Given the description of an element on the screen output the (x, y) to click on. 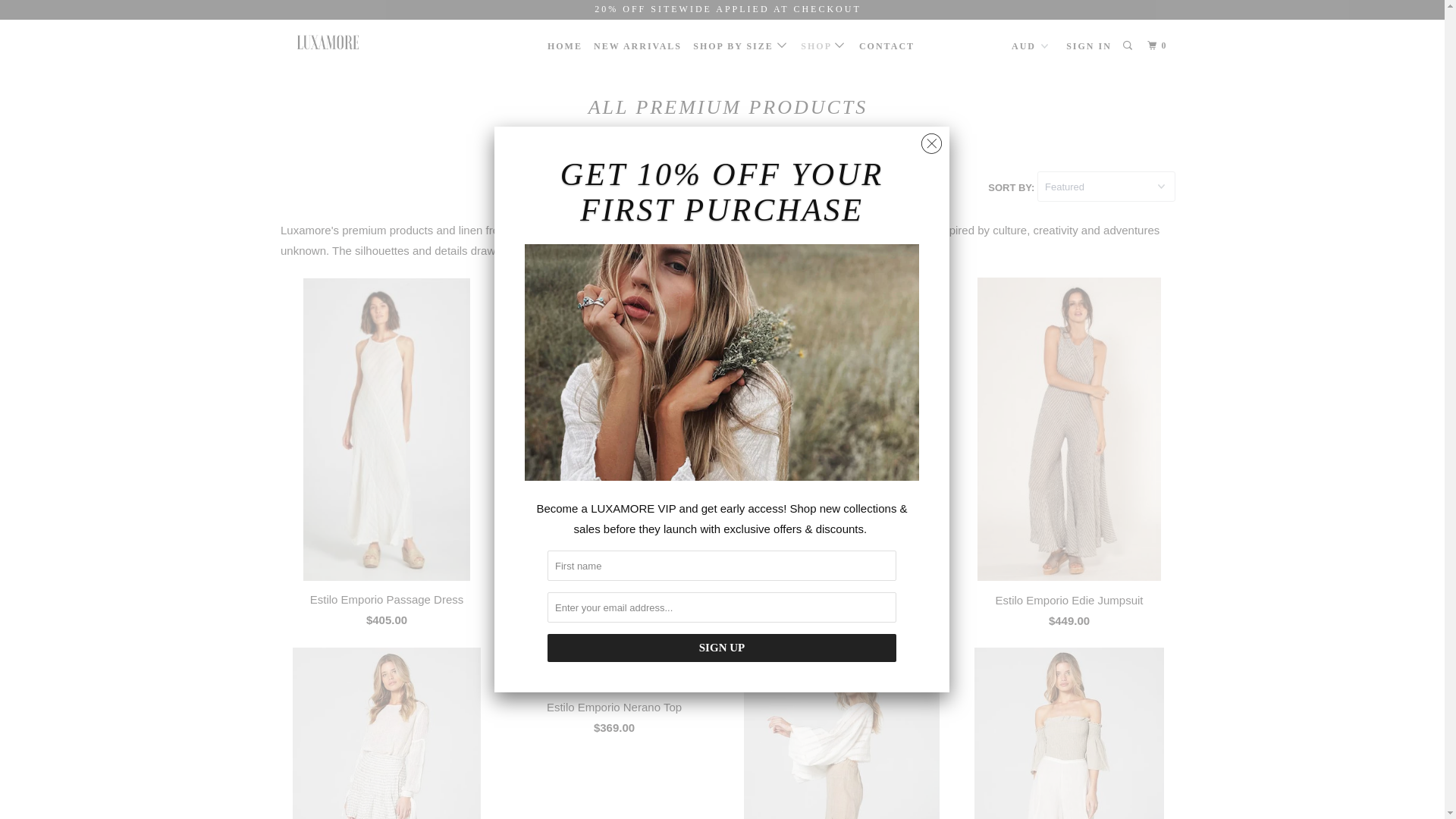
Estilo Emporio Edie Jumpsuit
$449.00 Element type: text (1069, 456)
0 Element type: text (1158, 45)
Estilo Emporio Scalino Dress
Sold Out Element type: text (614, 456)
SHOP BY SIZE Element type: text (741, 45)
Search Element type: hover (1129, 45)
Sign Up Element type: text (721, 647)
LUXAMORE AUSTRALIA Element type: hover (358, 40)
SHOP Element type: text (823, 45)
Estilo Emporio Voille Shirt
$389.00 Element type: text (841, 456)
Close Element type: hover (931, 139)
HOME Element type: text (564, 46)
CONTACT Element type: text (886, 46)
SIGN IN Element type: text (1088, 46)
NEW ARRIVALS Element type: text (637, 46)
Estilo Emporio Nerano Top
$369.00 Element type: text (614, 695)
Estilo Emporio Passage Dress
$405.00 Element type: text (386, 456)
